Given the description of an element on the screen output the (x, y) to click on. 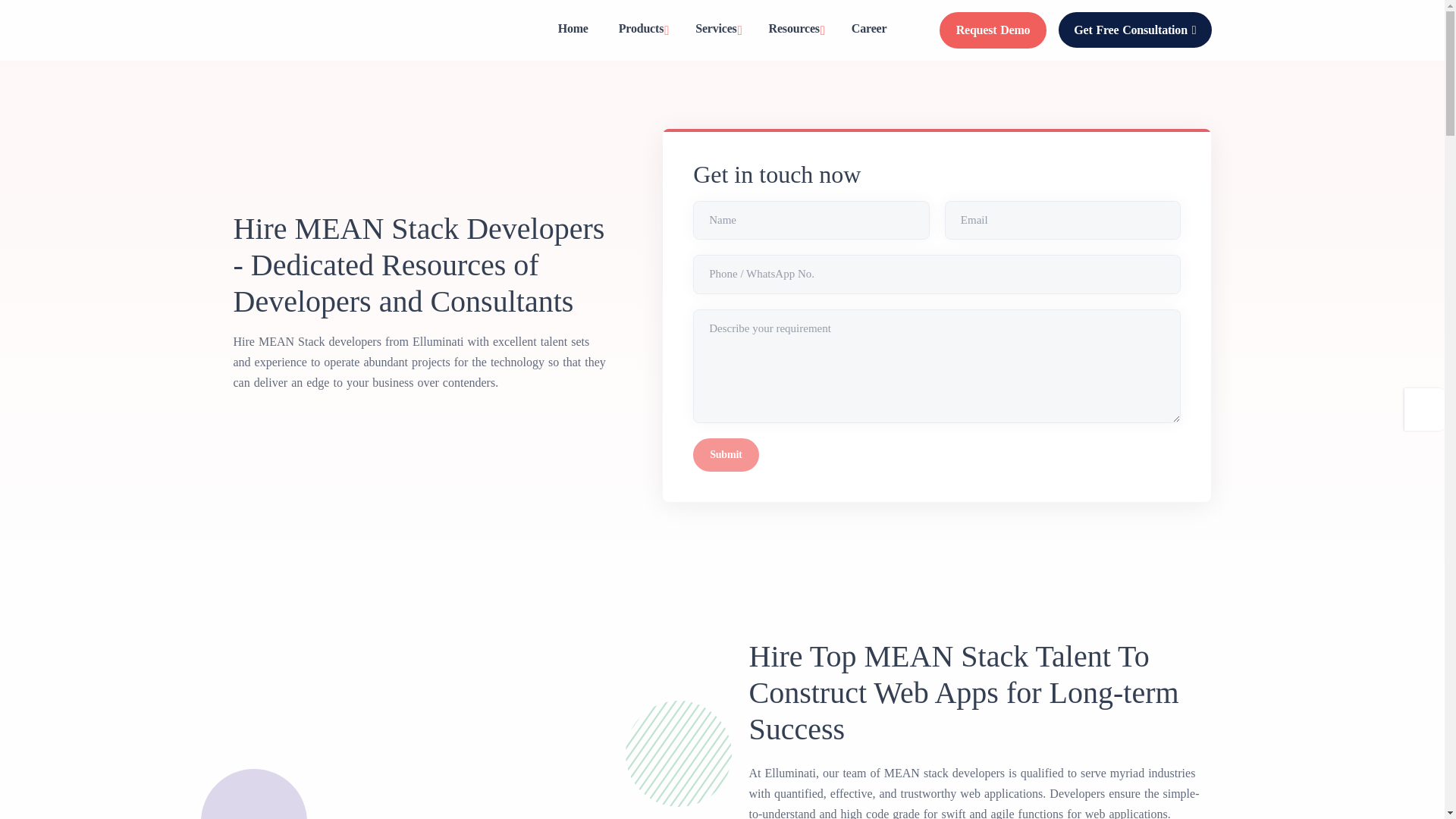
Home (573, 28)
Services (715, 30)
Submit (725, 454)
Products (641, 30)
